Given the description of an element on the screen output the (x, y) to click on. 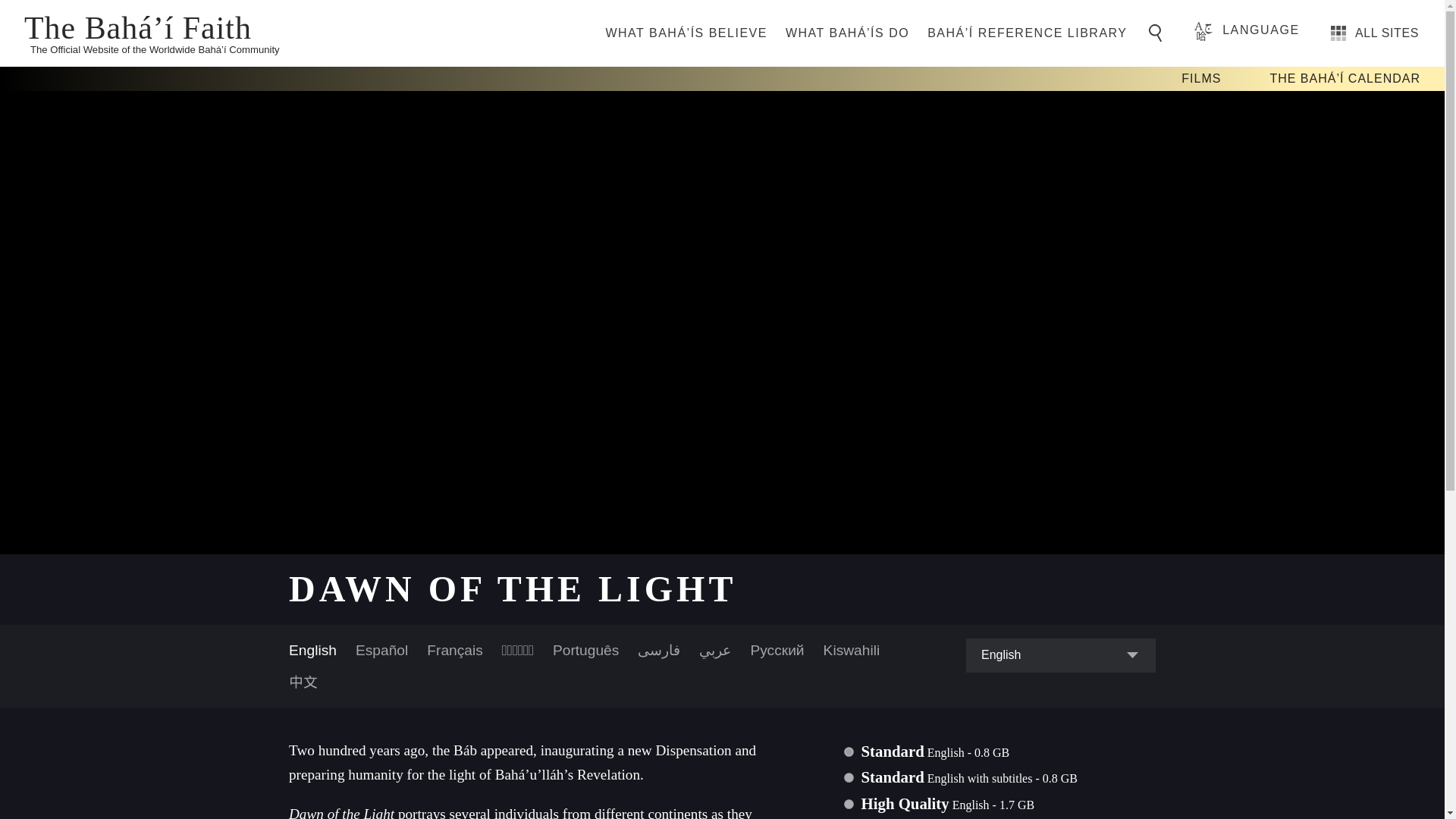
FILMS (1200, 78)
LANGUAGE (1247, 30)
ALL SITES (1374, 33)
